Given the description of an element on the screen output the (x, y) to click on. 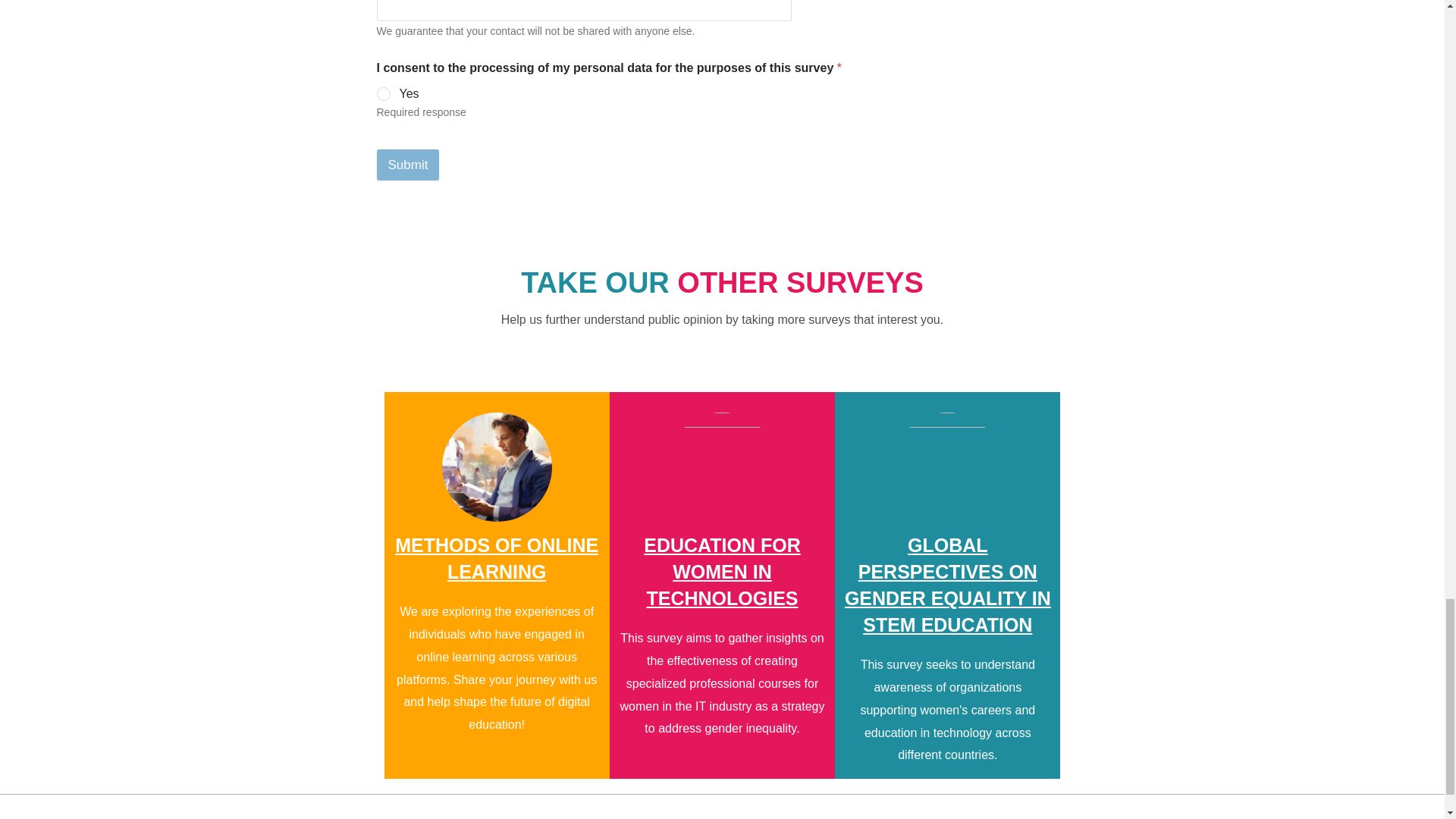
GLOBAL PERSPECTIVES ON GENDER EQUALITY IN STEM EDUCATION (947, 584)
METHODS OF ONLINE LEARNING (496, 558)
Submit (407, 164)
EDUCATION FOR WOMEN IN TECHNOLOGIES (721, 571)
